Given the description of an element on the screen output the (x, y) to click on. 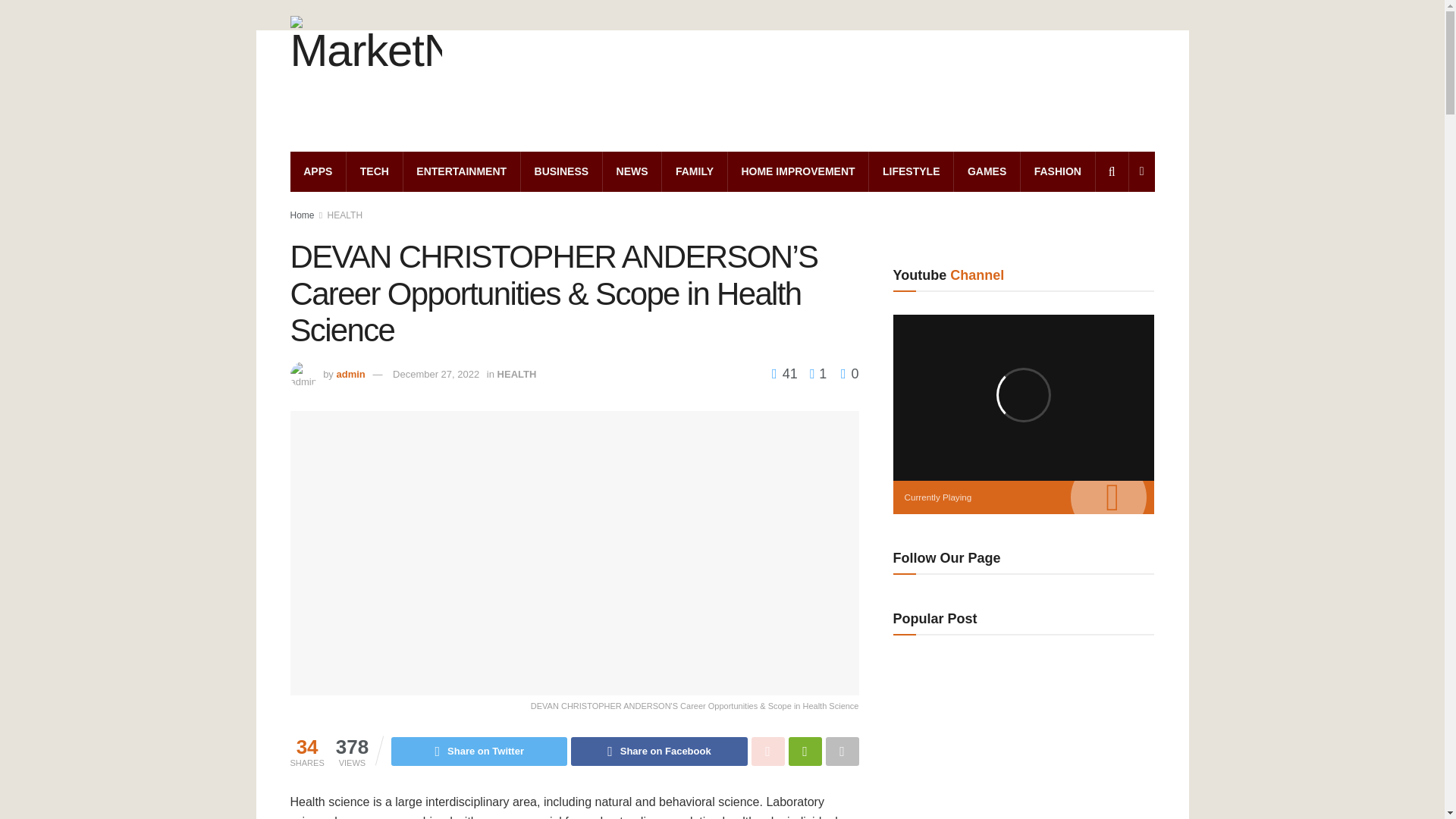
December 27, 2022 (436, 374)
HEALTH (344, 214)
LIFESTYLE (911, 171)
admin (350, 374)
APPS (317, 171)
0 (850, 373)
HEALTH (517, 374)
BUSINESS (561, 171)
GAMES (986, 171)
TECH (374, 171)
